Given the description of an element on the screen output the (x, y) to click on. 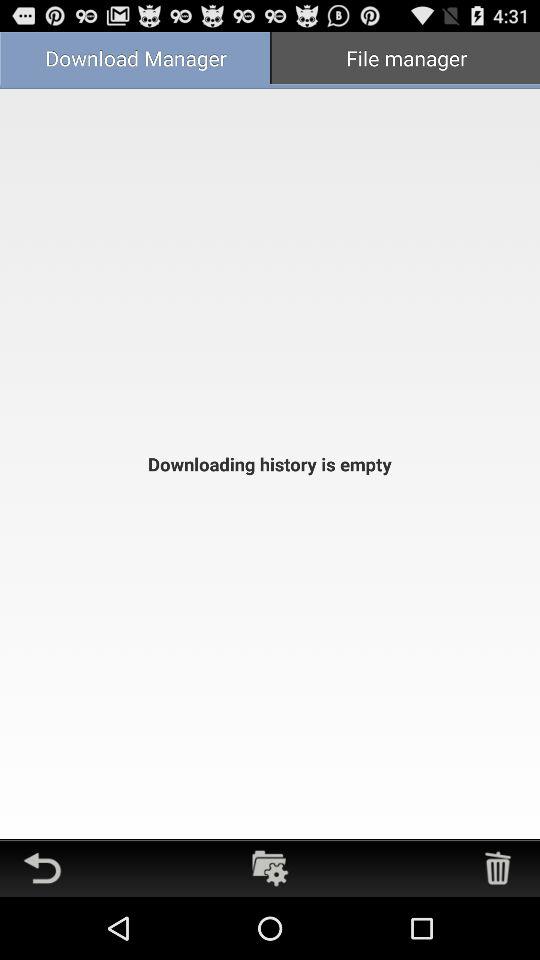
deletes the items (498, 868)
